Given the description of an element on the screen output the (x, y) to click on. 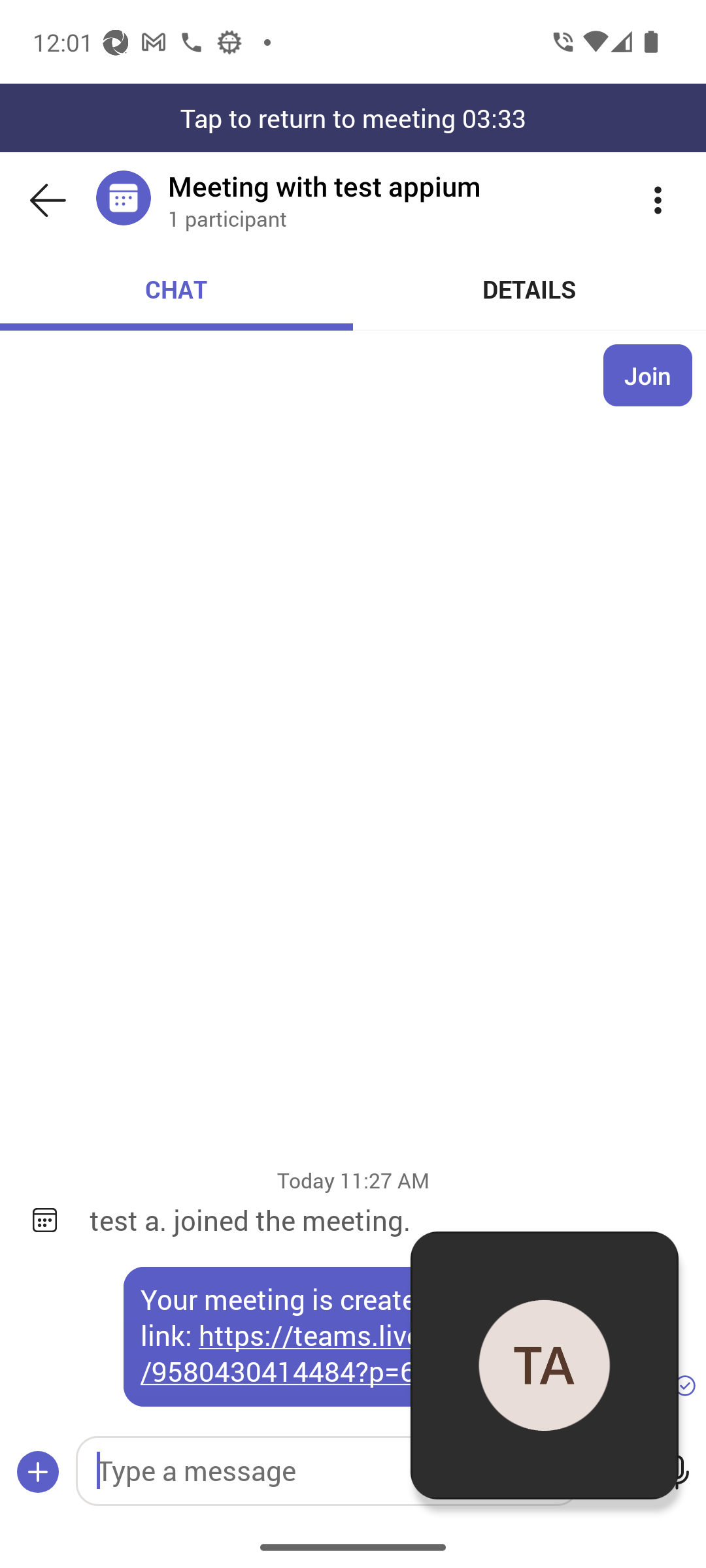
Tap to return to meeting 03:33 (353, 117)
Back (48, 199)
More options (657, 199)
Details DETAILS (529, 288)
Join (647, 375)
test a. joined the meeting. (383, 1219)
Compose options, collapsed (37, 1471)
Type a message (326, 1470)
